Given the description of an element on the screen output the (x, y) to click on. 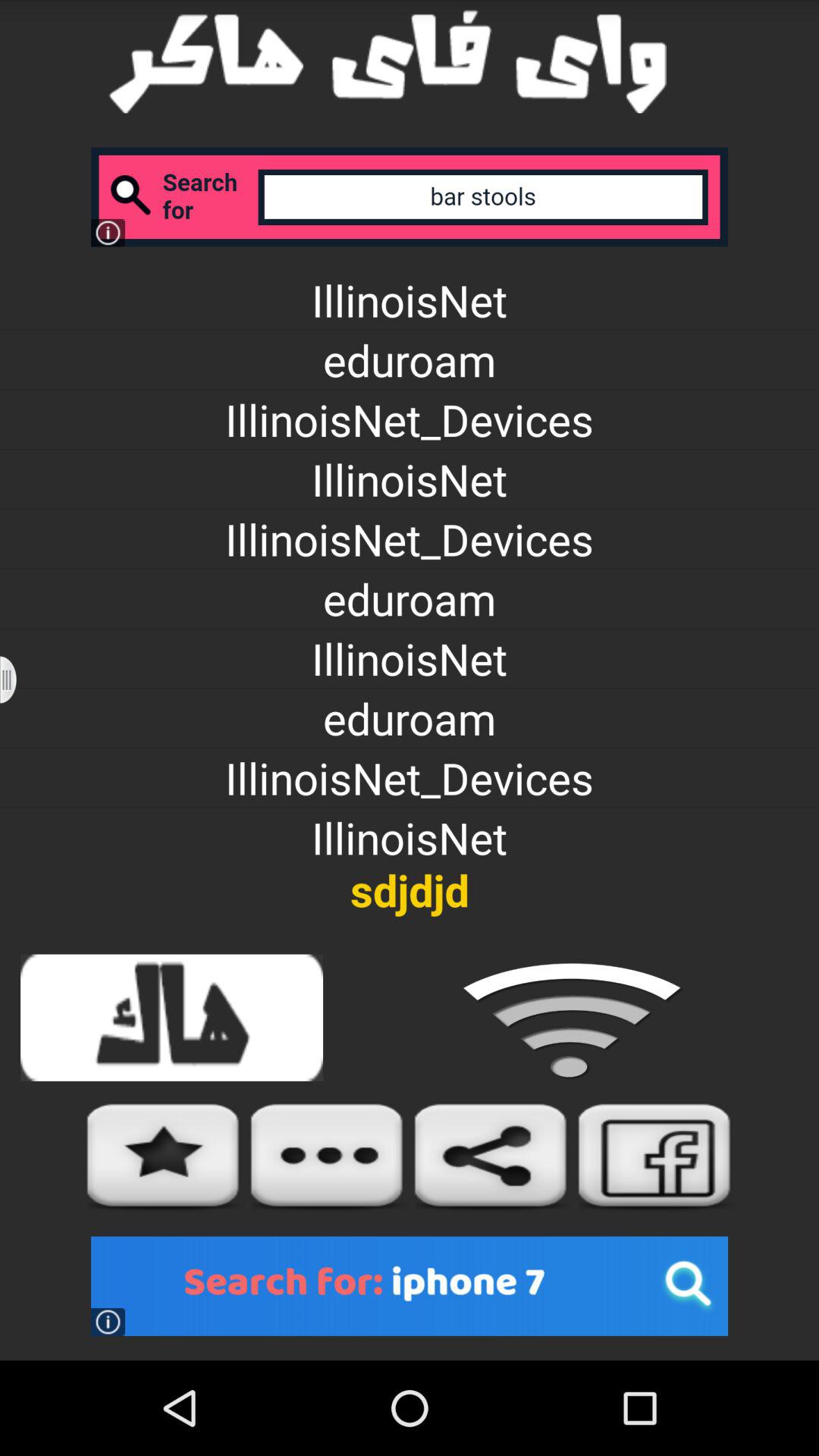
select the item next to the illinoisnet icon (18, 679)
